Given the description of an element on the screen output the (x, y) to click on. 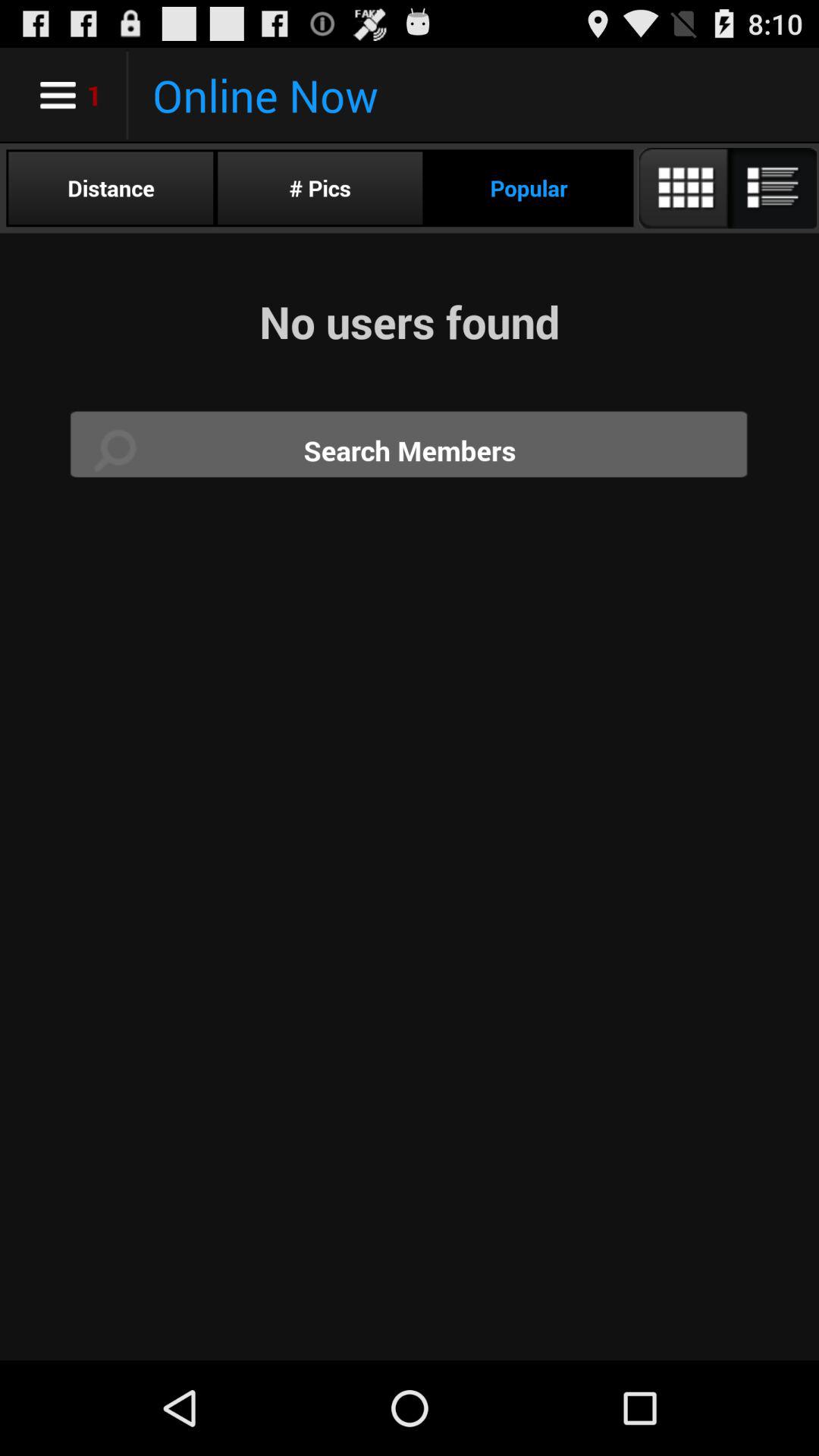
scroll to # pics (319, 187)
